Given the description of an element on the screen output the (x, y) to click on. 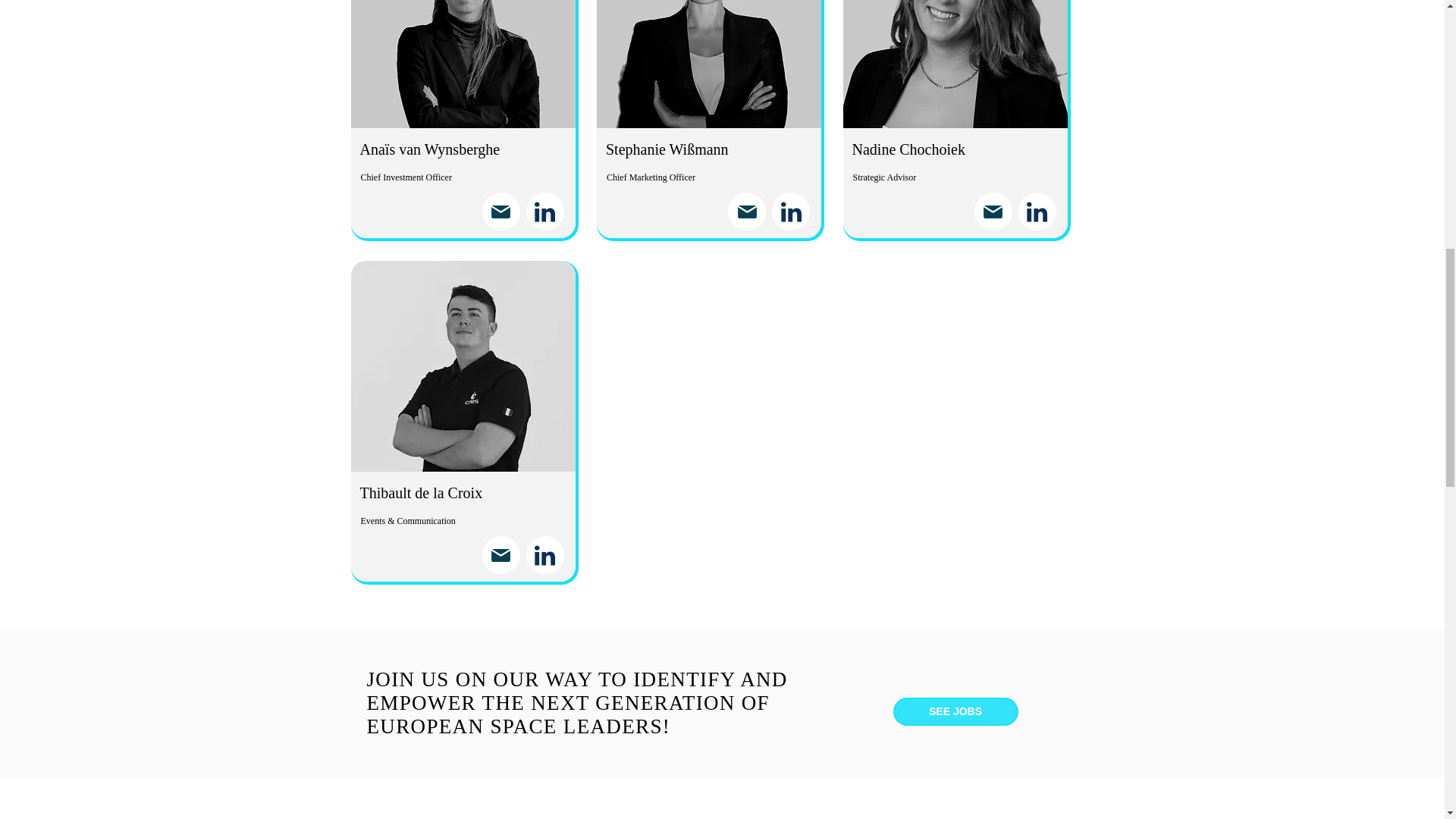
Stephanie.jpg (708, 63)
Anais.jpg (462, 63)
SEE JOBS (955, 711)
Thibault.jpg (462, 366)
Nadine.jpg (955, 63)
